Given the description of an element on the screen output the (x, y) to click on. 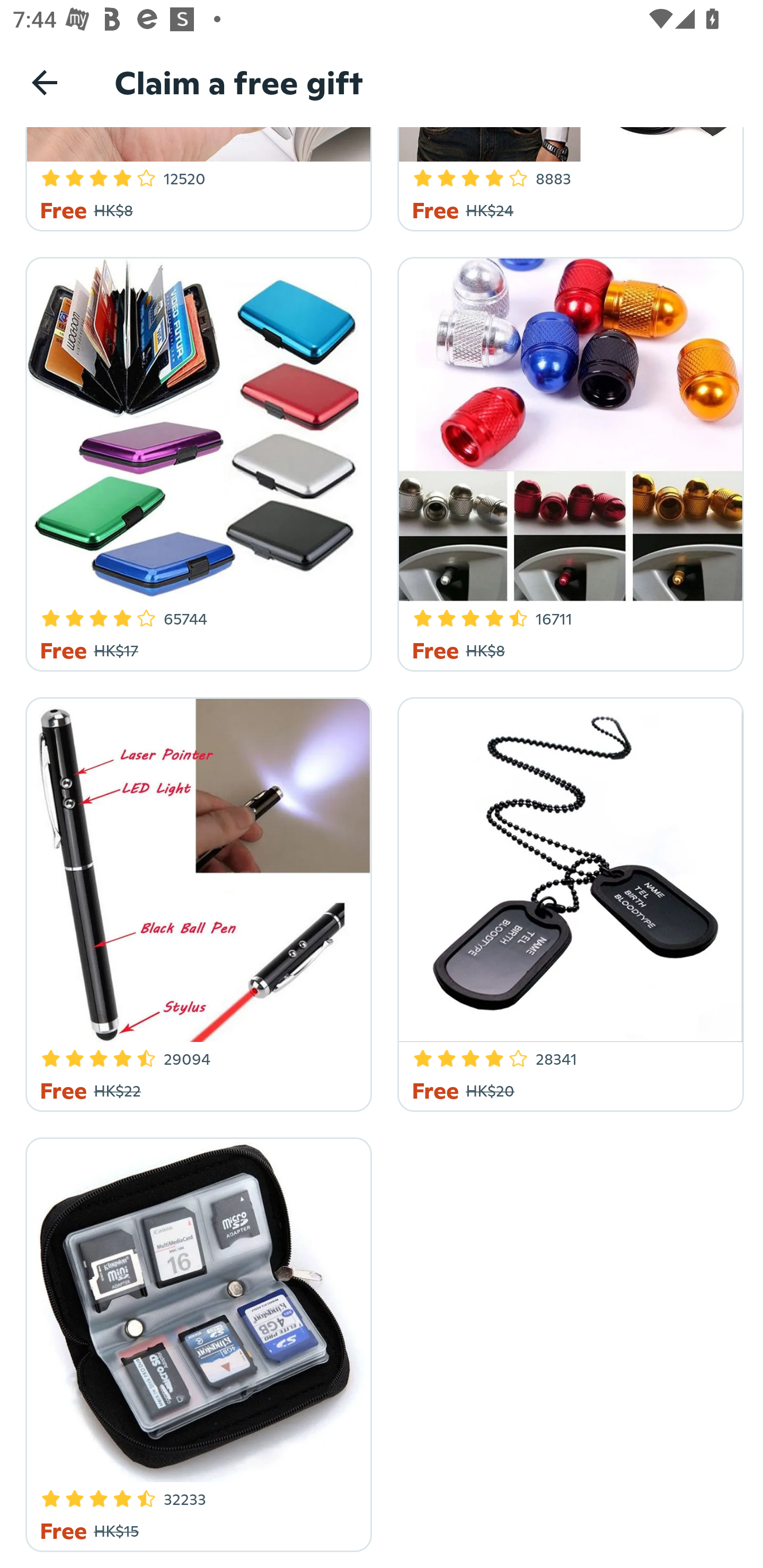
Navigate up (44, 82)
3.9 Star Rating 12520 Free HK$8 (195, 179)
4.2 Star Rating 8883 Free HK$24 (566, 179)
3.9 Star Rating 65744 Free HK$17 (195, 460)
4.5 Star Rating 16711 Free HK$8 (566, 460)
4.3 Star Rating 29094 Free HK$22 (195, 901)
4.1 Star Rating 28341 Free HK$20 (566, 901)
4.3 Star Rating 32233 Free HK$15 (195, 1341)
